Given the description of an element on the screen output the (x, y) to click on. 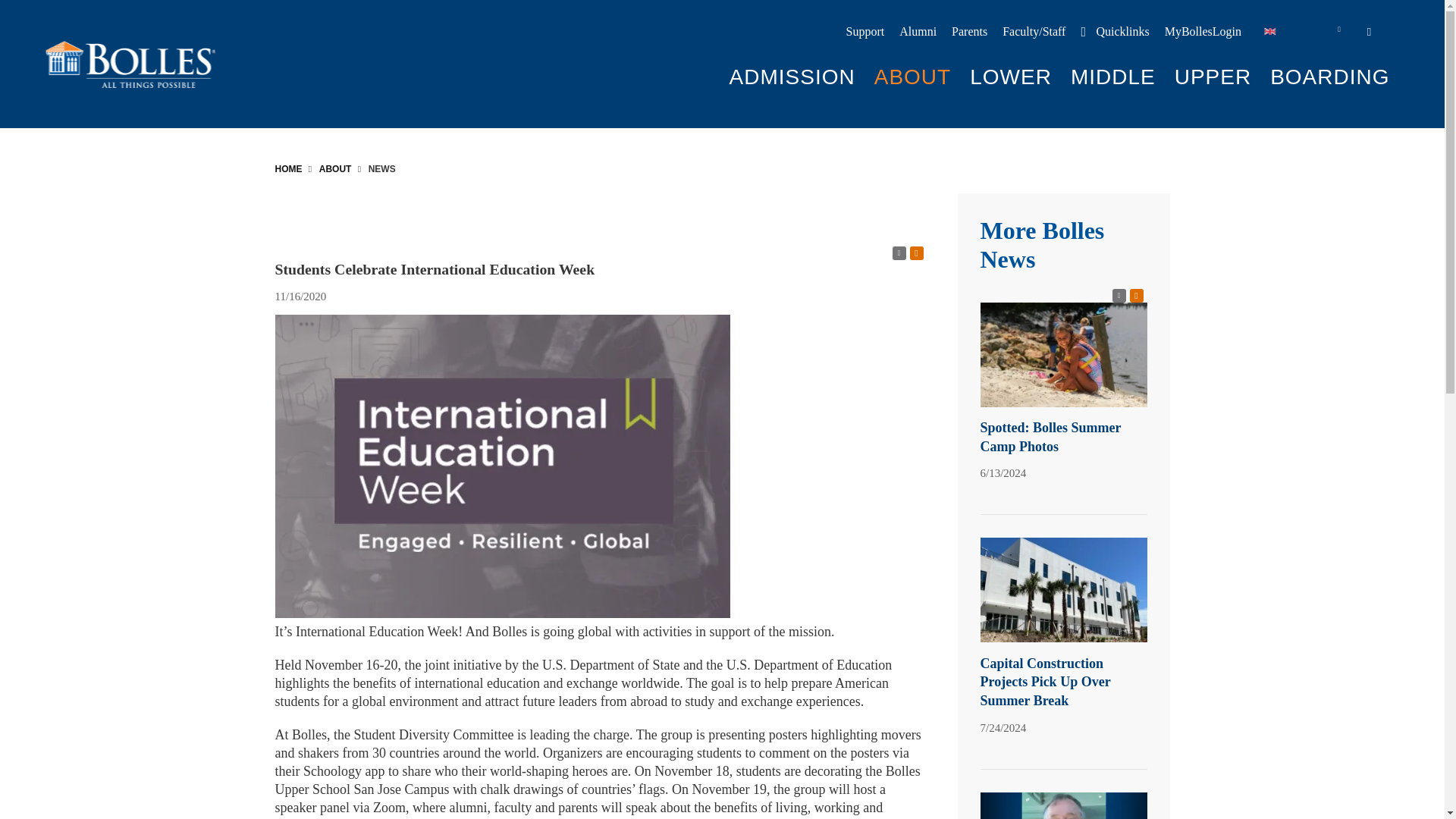
building with palm trees (1063, 589)
Alerts (1135, 295)
Alerts (916, 253)
RSS (898, 253)
man in suit and tie smiling (1063, 805)
child in life jacket playing in sand (1063, 354)
RSS (1118, 295)
